Given the description of an element on the screen output the (x, y) to click on. 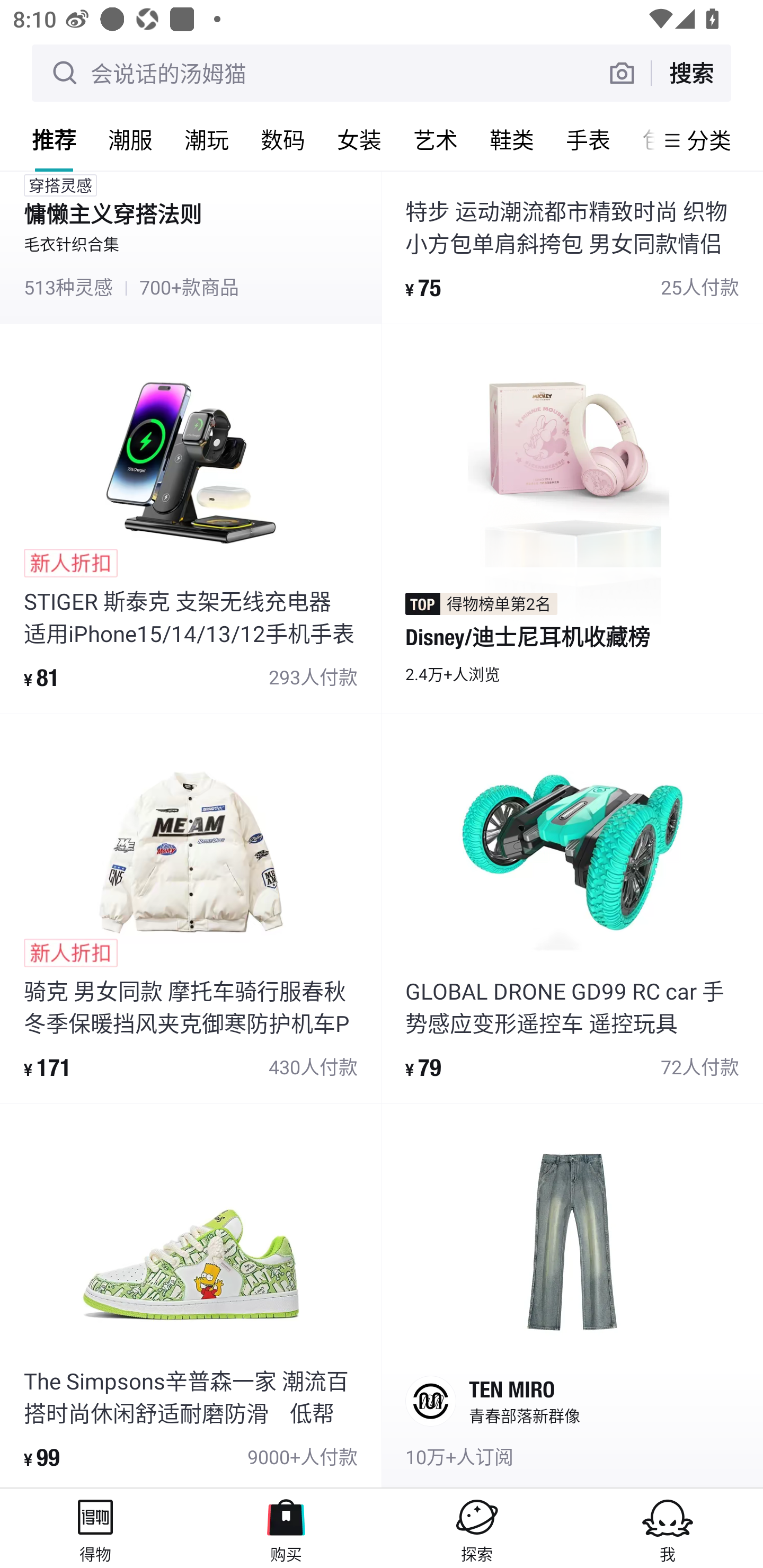
搜索 (690, 72)
推荐 (54, 139)
潮服 (130, 139)
潮玩 (206, 139)
数码 (282, 139)
女装 (359, 139)
艺术 (435, 139)
鞋类 (511, 139)
手表 (588, 139)
分类 (708, 139)
穿搭灵感 慵懒主义穿搭法则 毛衣针织合集 513种灵感 # 700+款商品 (190, 246)
得物榜单第2名 Disney/迪士尼耳机收藏榜 2.4万+人浏览 (572, 518)
TEN MIRO 青春部落新群像 10万+人订阅 (572, 1295)
得物 (95, 1528)
购买 (285, 1528)
探索 (476, 1528)
我 (667, 1528)
